Given the description of an element on the screen output the (x, y) to click on. 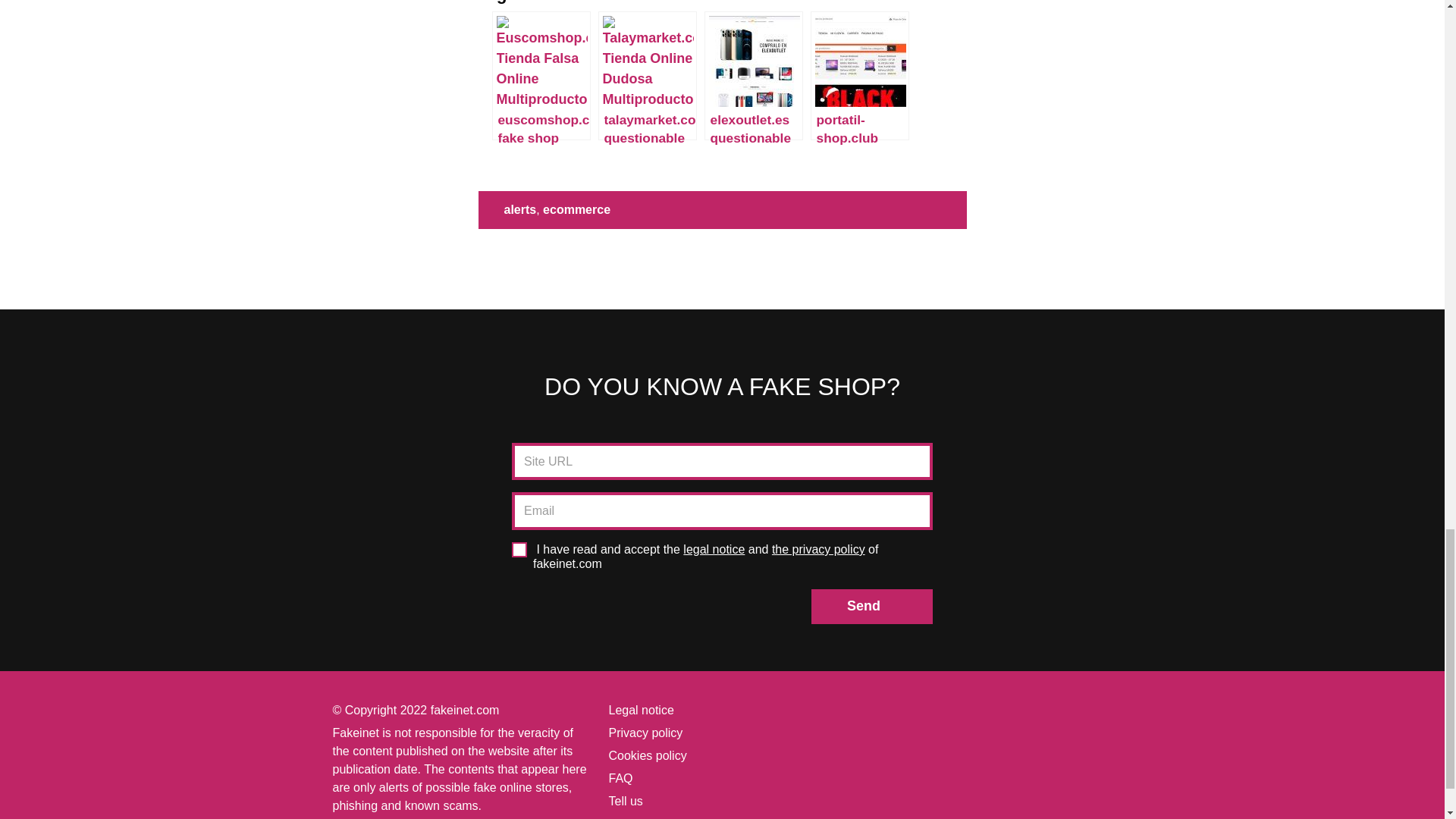
Privacy policy (645, 732)
Legal notice (640, 709)
Tell us (625, 800)
legal notice (539, 818)
Send (871, 606)
ecommerce (576, 210)
FAQ (619, 778)
the privacy policy (817, 549)
Cookies policy (646, 755)
alerts (519, 210)
